Given the description of an element on the screen output the (x, y) to click on. 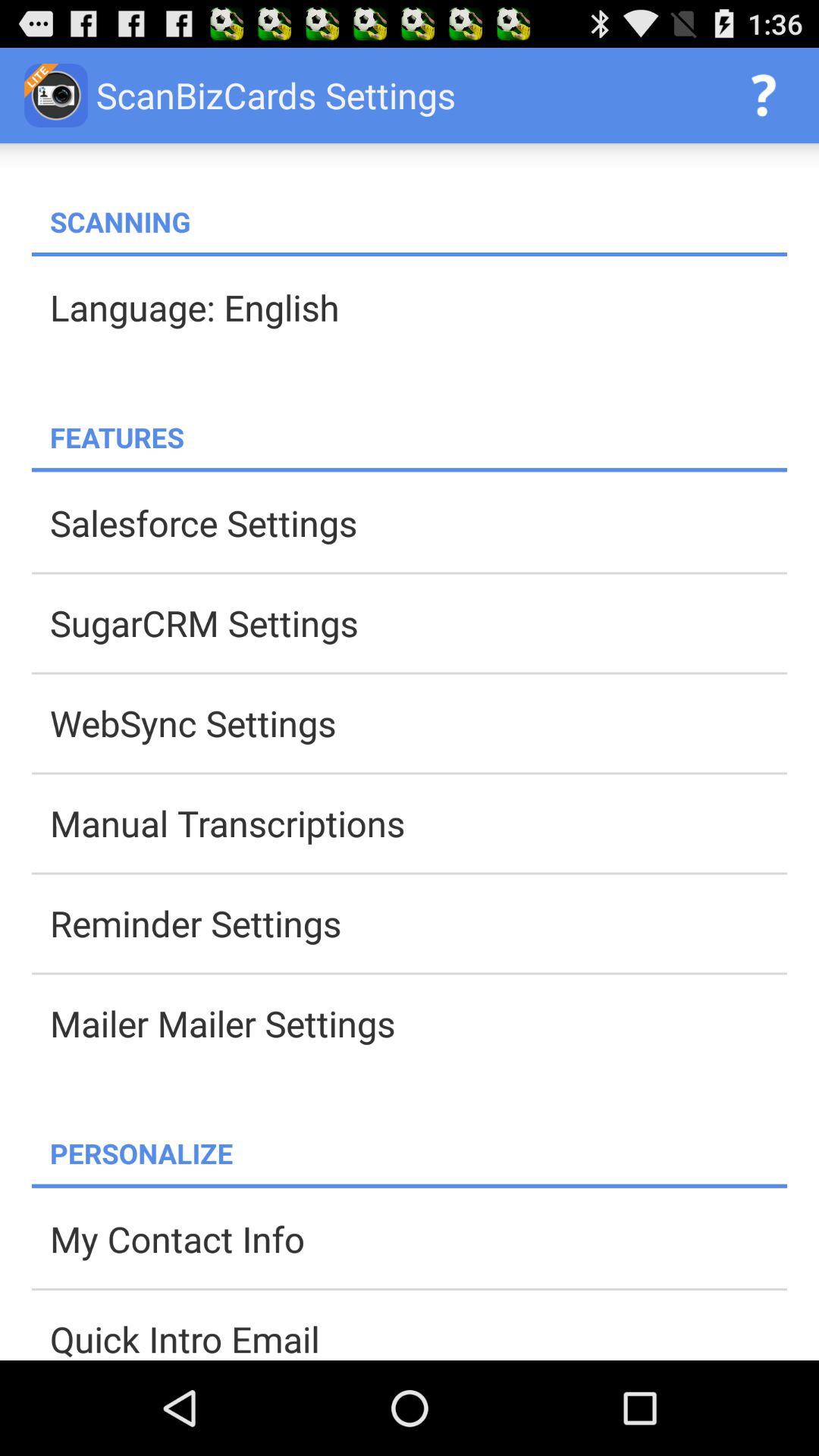
launch personalize (418, 1153)
